Given the description of an element on the screen output the (x, y) to click on. 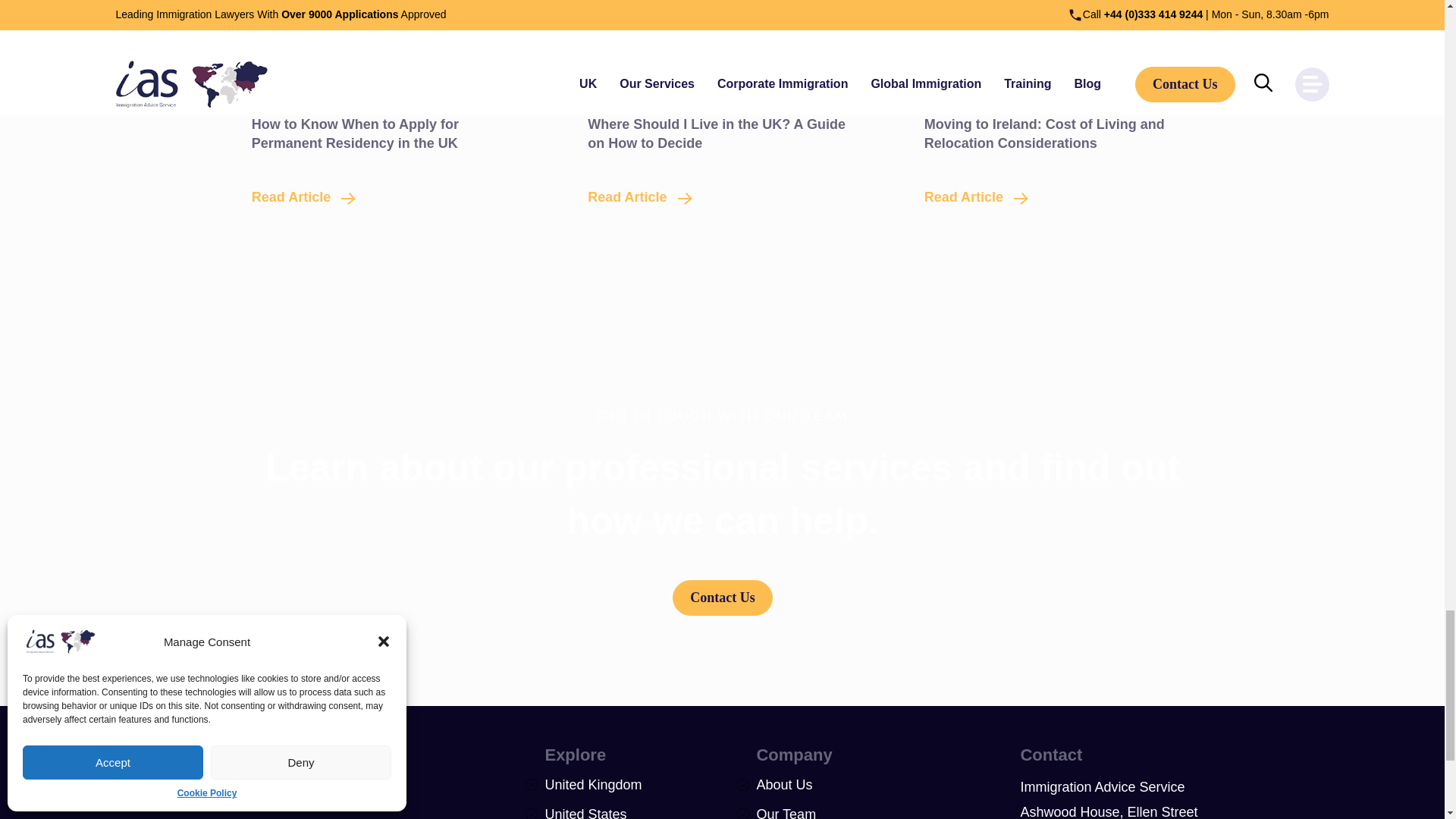
How to Know When to Apply for Permanent Residency in the UK (298, 197)
Where Should I Live in the UK? A Guide on How to Decide (634, 197)
Where Should I Live in the UK? A Guide on How to Decide (716, 133)
How to Know When to Apply for Permanent Residency in the UK (354, 133)
How to Know When to Apply for Permanent Residency in the UK (387, 28)
Where Should I Live in the UK? A Guide on How to Decide (723, 28)
